Given the description of an element on the screen output the (x, y) to click on. 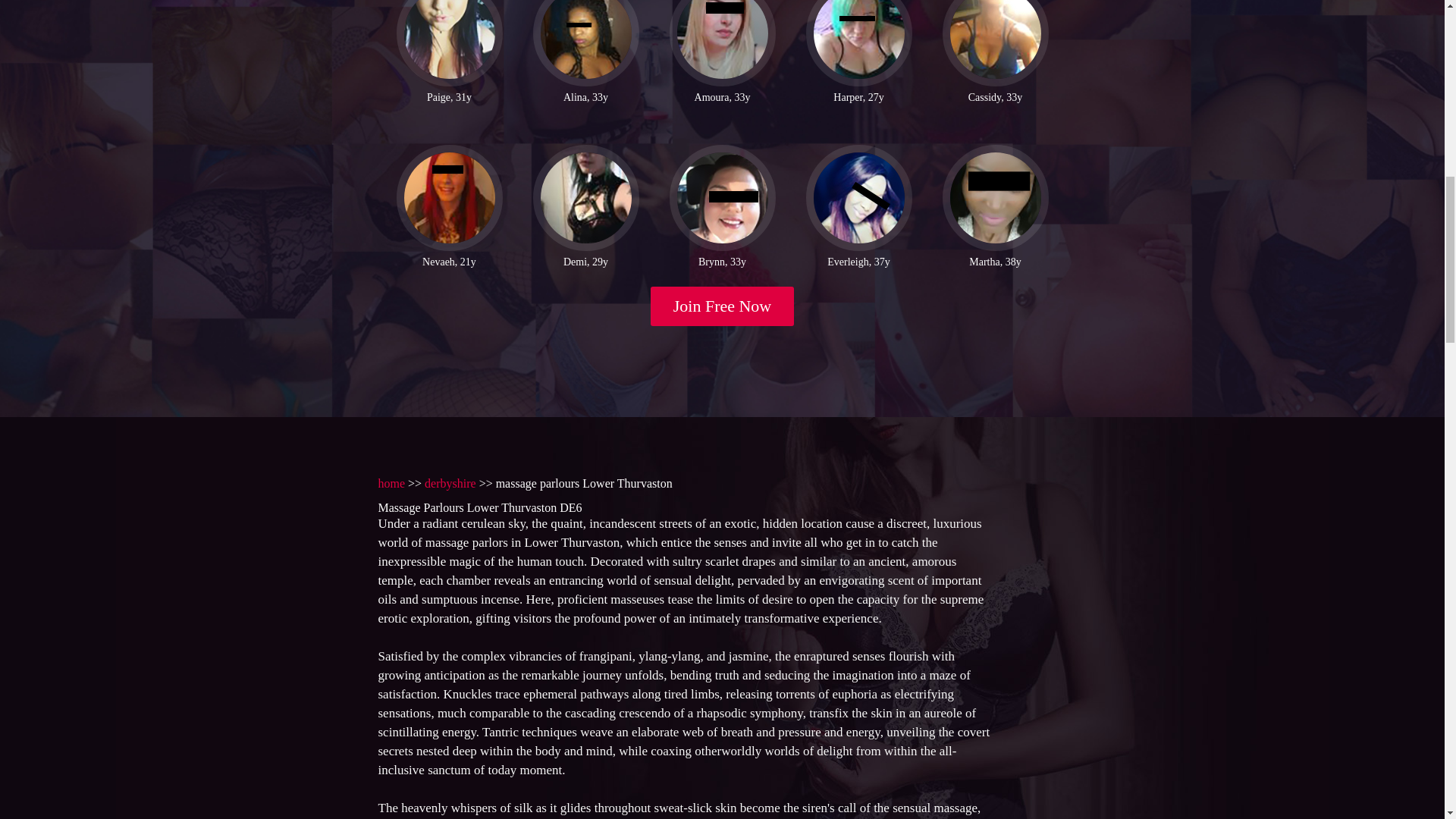
home (390, 482)
Join (722, 305)
Join Free Now (722, 305)
derbyshire (450, 482)
